Given the description of an element on the screen output the (x, y) to click on. 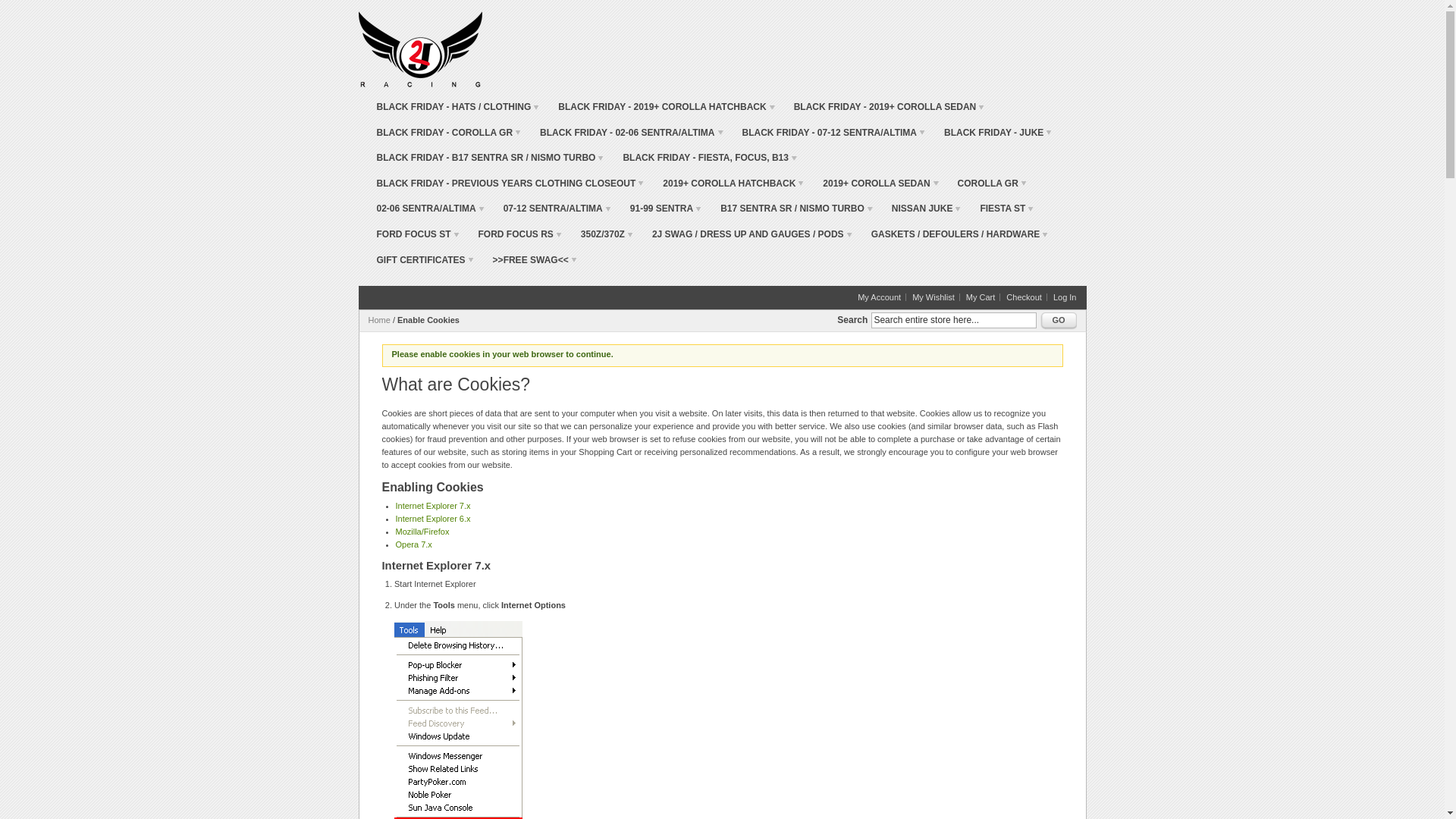
2J Racing Element type: hover (419, 49)
07-12 SENTRA/ALTIMA Element type: text (557, 209)
>>FREE SWAG<< Element type: text (534, 260)
Opera 7.x Element type: text (413, 544)
My Account Element type: text (881, 296)
GO Element type: text (1058, 320)
BLACK FRIDAY - B17 SENTRA SR / NISMO TURBO Element type: text (489, 158)
Home Element type: text (379, 319)
Internet Explorer 7.x Element type: text (432, 505)
BLACK FRIDAY - JUKE Element type: text (997, 133)
COROLLA GR Element type: text (991, 184)
BLACK FRIDAY - 2019+ COROLLA SEDAN Element type: text (889, 107)
BLACK FRIDAY - 2019+ COROLLA HATCHBACK Element type: text (666, 107)
FIESTA ST Element type: text (1006, 209)
Internet Explorer 6.x Element type: text (432, 518)
GASKETS / DEFOULERS / HARDWARE Element type: text (959, 235)
GIFT CERTIFICATES Element type: text (424, 260)
FORD FOCUS ST Element type: text (417, 235)
Mozilla/Firefox Element type: text (422, 531)
BLACK FRIDAY - PREVIOUS YEARS CLOTHING CLOSEOUT Element type: text (509, 184)
My Cart Element type: text (983, 296)
BLACK FRIDAY - COROLLA GR Element type: text (448, 133)
BLACK FRIDAY - FIESTA, FOCUS, B13 Element type: text (709, 158)
2019+ COROLLA SEDAN Element type: text (880, 184)
02-06 SENTRA/ALTIMA Element type: text (429, 209)
Log In Element type: text (1064, 296)
2019+ COROLLA HATCHBACK Element type: text (732, 184)
FORD FOCUS RS Element type: text (519, 235)
NISSAN JUKE Element type: text (926, 209)
B17 SENTRA SR / NISMO TURBO Element type: text (796, 209)
91-99 SENTRA Element type: text (665, 209)
BLACK FRIDAY - 02-06 SENTRA/ALTIMA Element type: text (630, 133)
350Z/370Z Element type: text (606, 235)
BLACK FRIDAY - HATS / CLOTHING Element type: text (457, 107)
My Wishlist Element type: text (936, 296)
BLACK FRIDAY - 07-12 SENTRA/ALTIMA Element type: text (833, 133)
2J SWAG / DRESS UP AND GAUGES / PODS Element type: text (752, 235)
Checkout Element type: text (1026, 296)
